Given the description of an element on the screen output the (x, y) to click on. 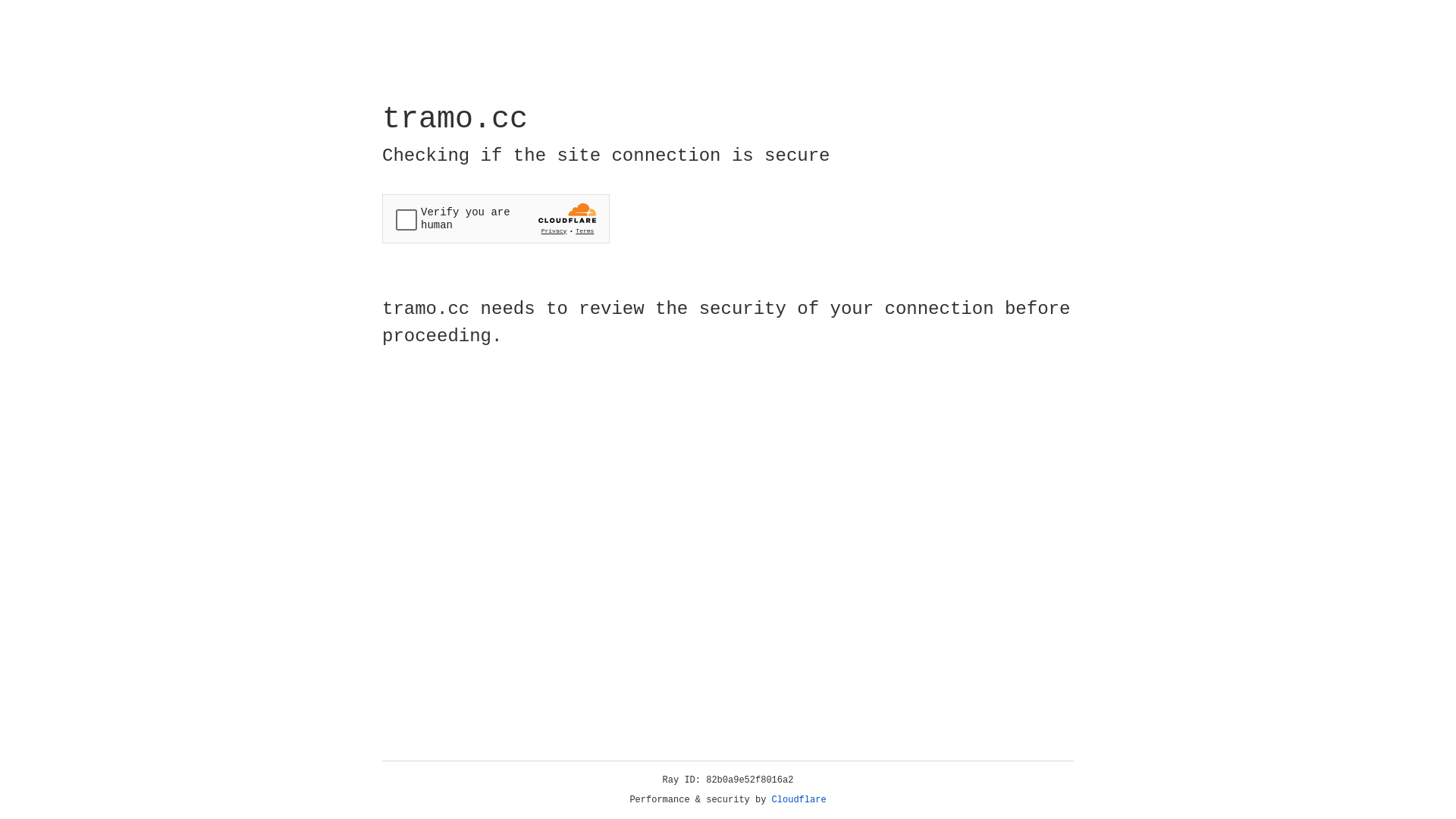
Cloudflare Element type: text (798, 799)
Widget containing a Cloudflare security challenge Element type: hover (495, 218)
